Given the description of an element on the screen output the (x, y) to click on. 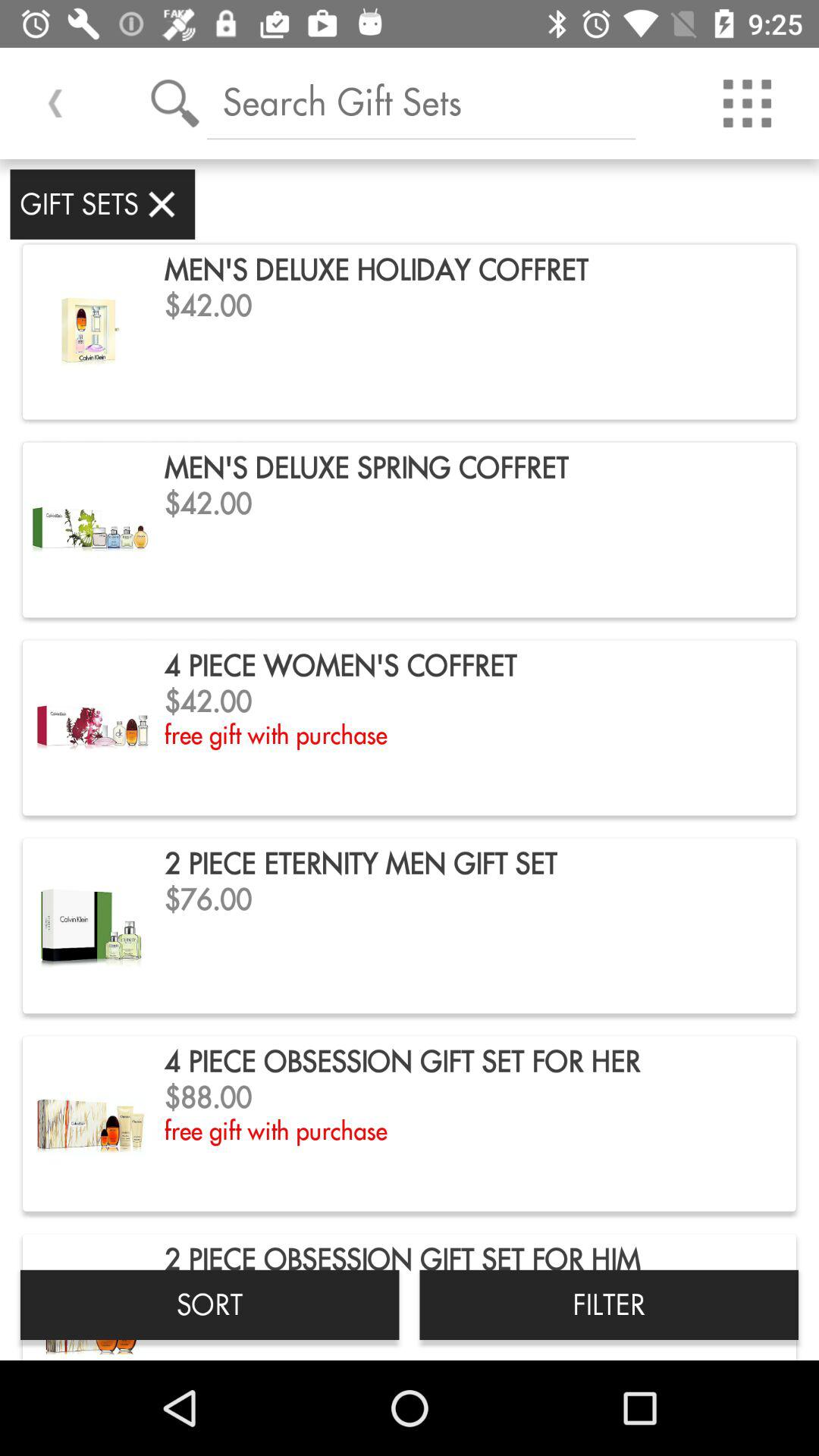
choose icon above the men s deluxe (421, 102)
